Given the description of an element on the screen output the (x, y) to click on. 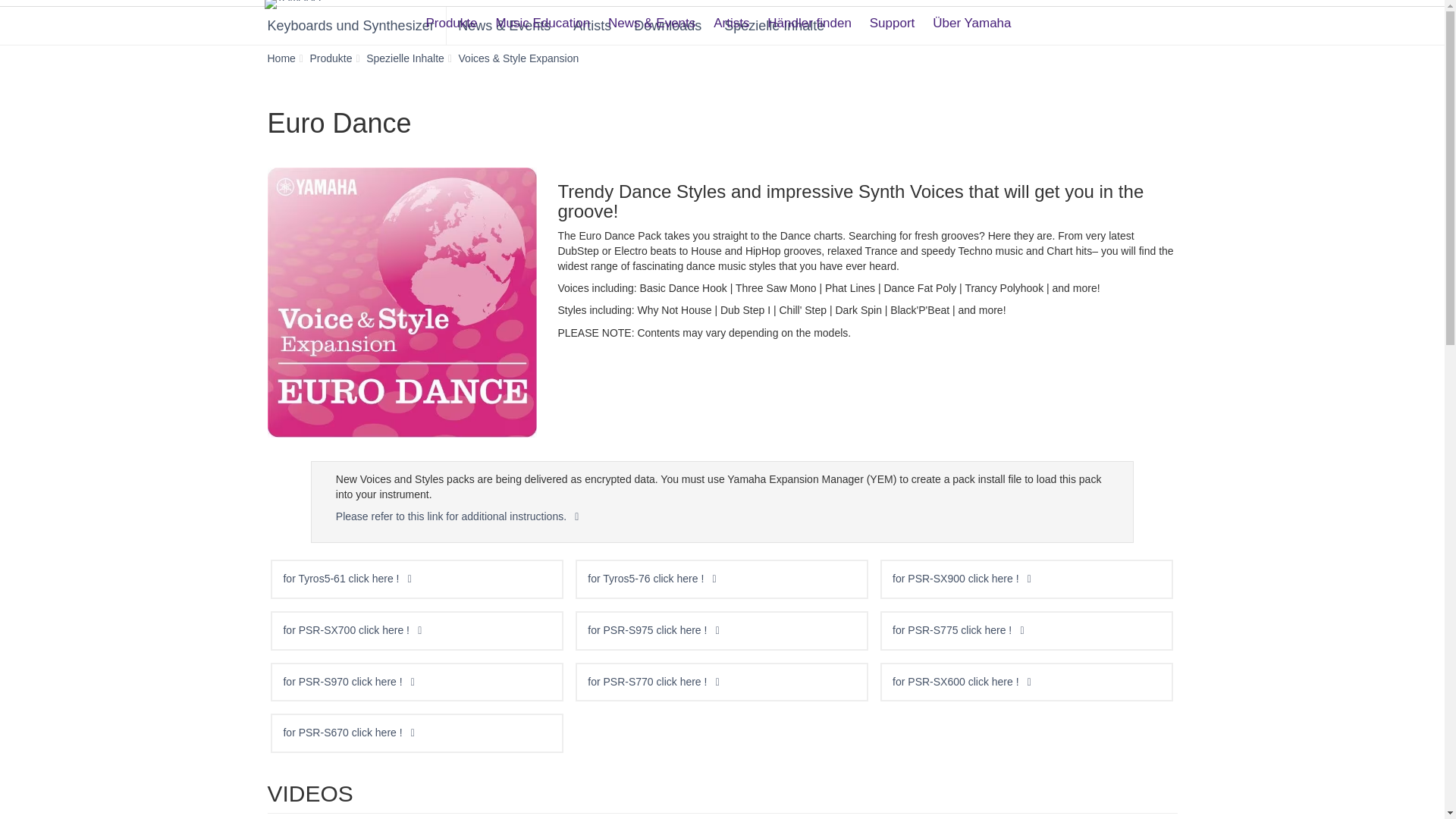
Support (892, 17)
Music Education (541, 17)
Produkte (450, 17)
Artists (731, 17)
